Given the description of an element on the screen output the (x, y) to click on. 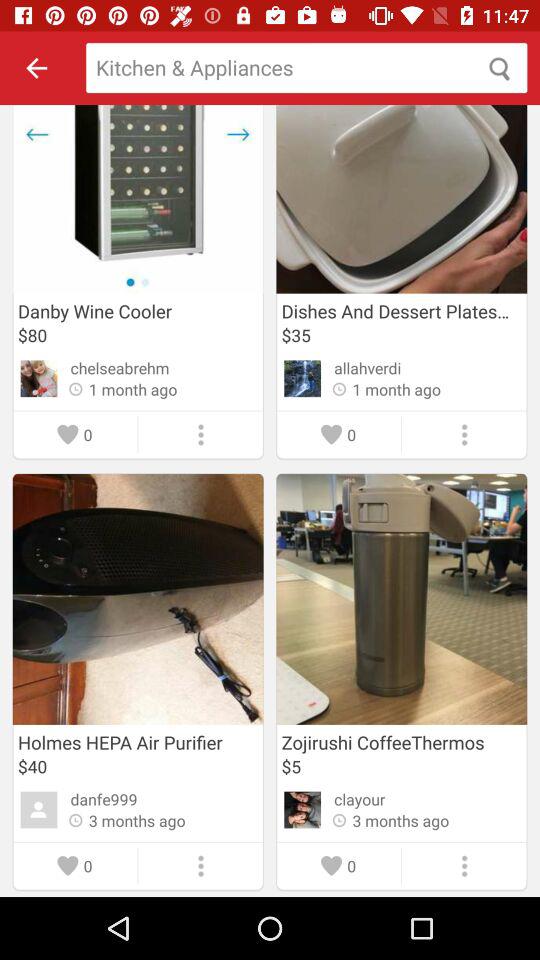
select item below $5 item (359, 799)
